Given the description of an element on the screen output the (x, y) to click on. 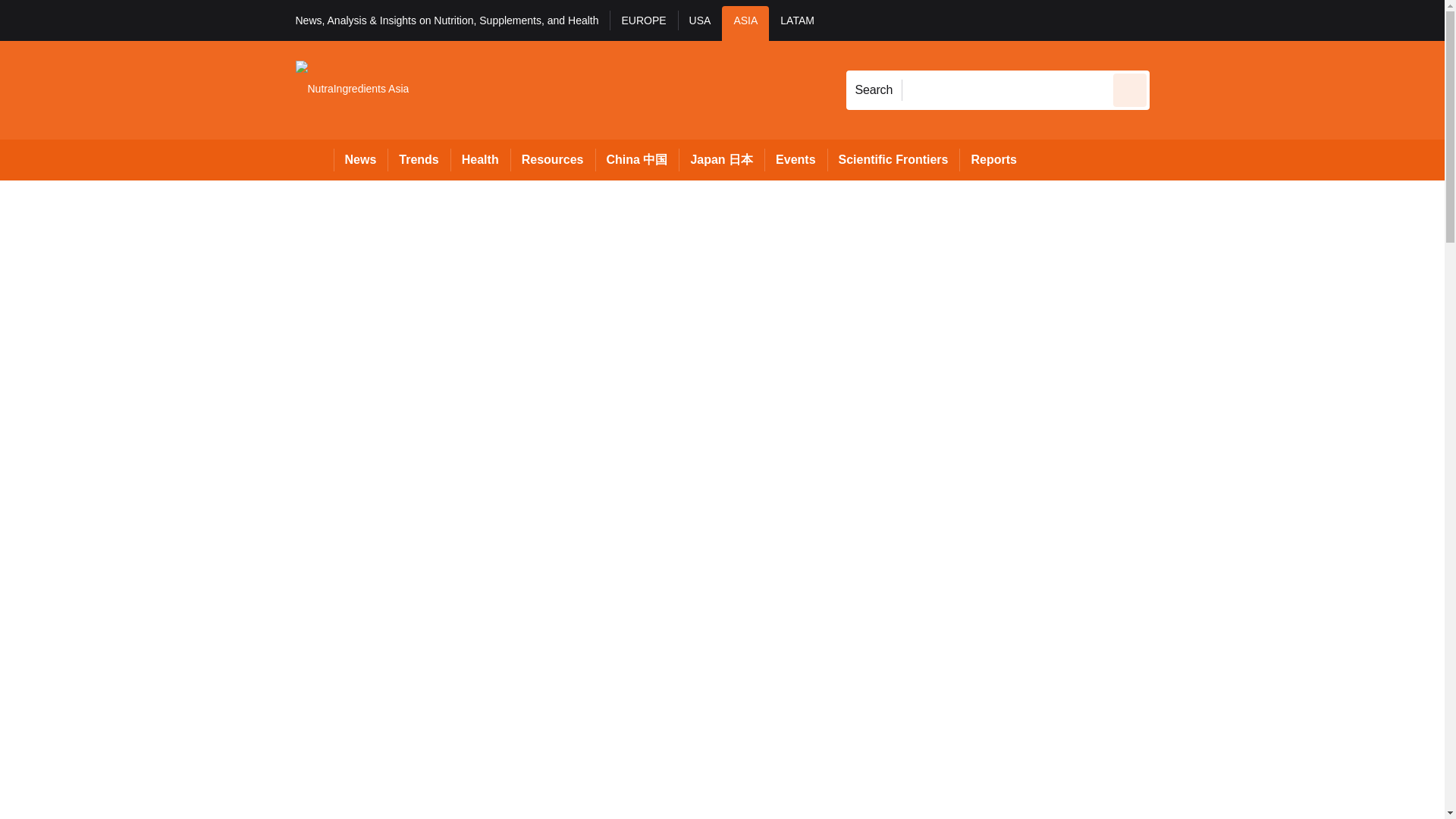
ASIA (745, 22)
Sign in (1171, 20)
Trends (418, 159)
SUBSCRIBE (1362, 20)
SUBSCRIBE (1318, 20)
Home (313, 159)
Send (1129, 89)
My account (1256, 20)
Sign out (1174, 20)
Register (1231, 20)
